Given the description of an element on the screen output the (x, y) to click on. 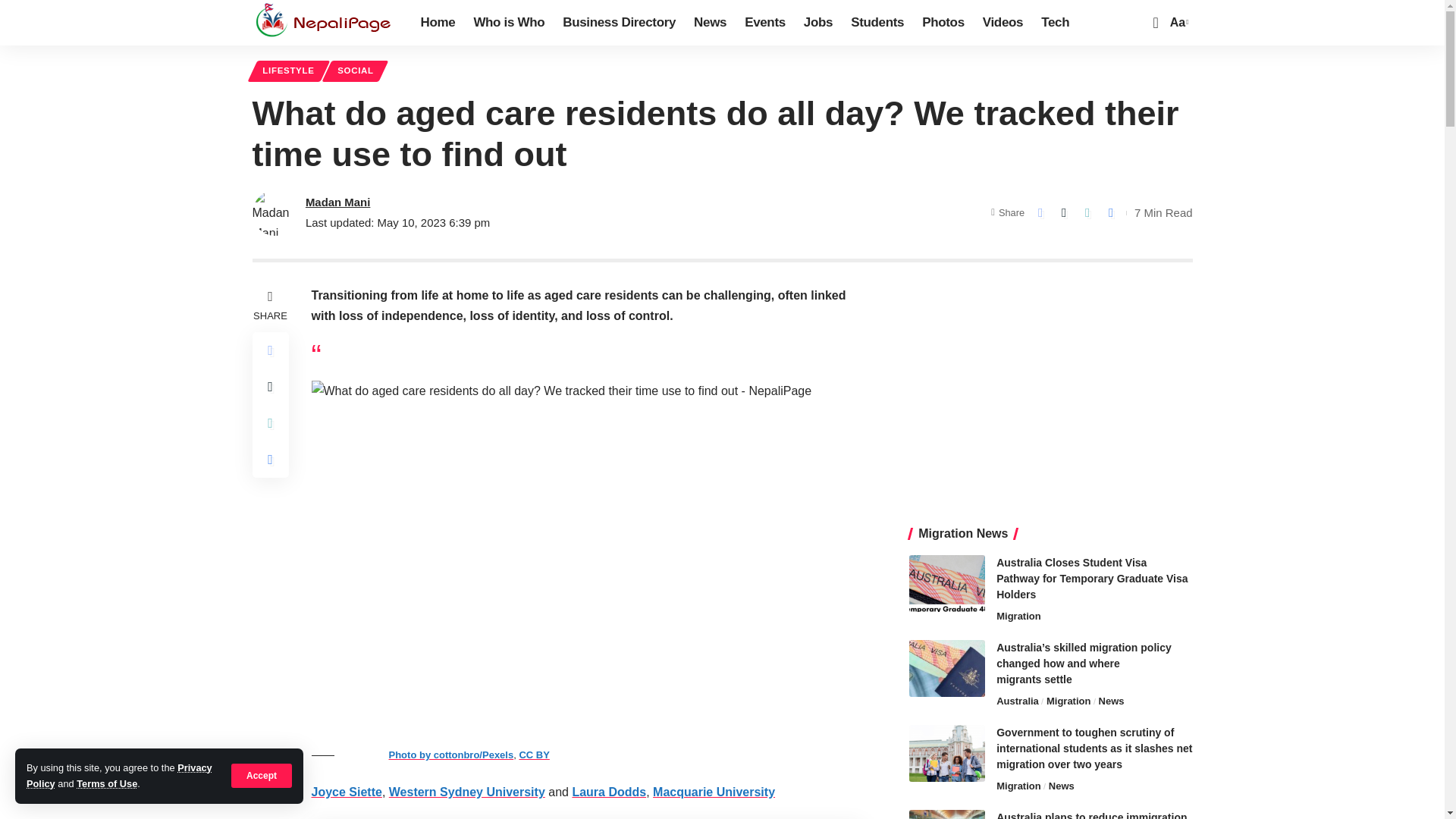
Students (876, 22)
Australia plans to reduce immigration levels (946, 814)
Madan Mani (337, 201)
Jobs (817, 22)
Videos (1003, 22)
LIFESTYLE (287, 70)
Home (437, 22)
Business Directory (618, 22)
Who is Who (1177, 22)
News (508, 22)
Advertisement (709, 22)
Nepali Page (1050, 391)
Accept (323, 22)
